Given the description of an element on the screen output the (x, y) to click on. 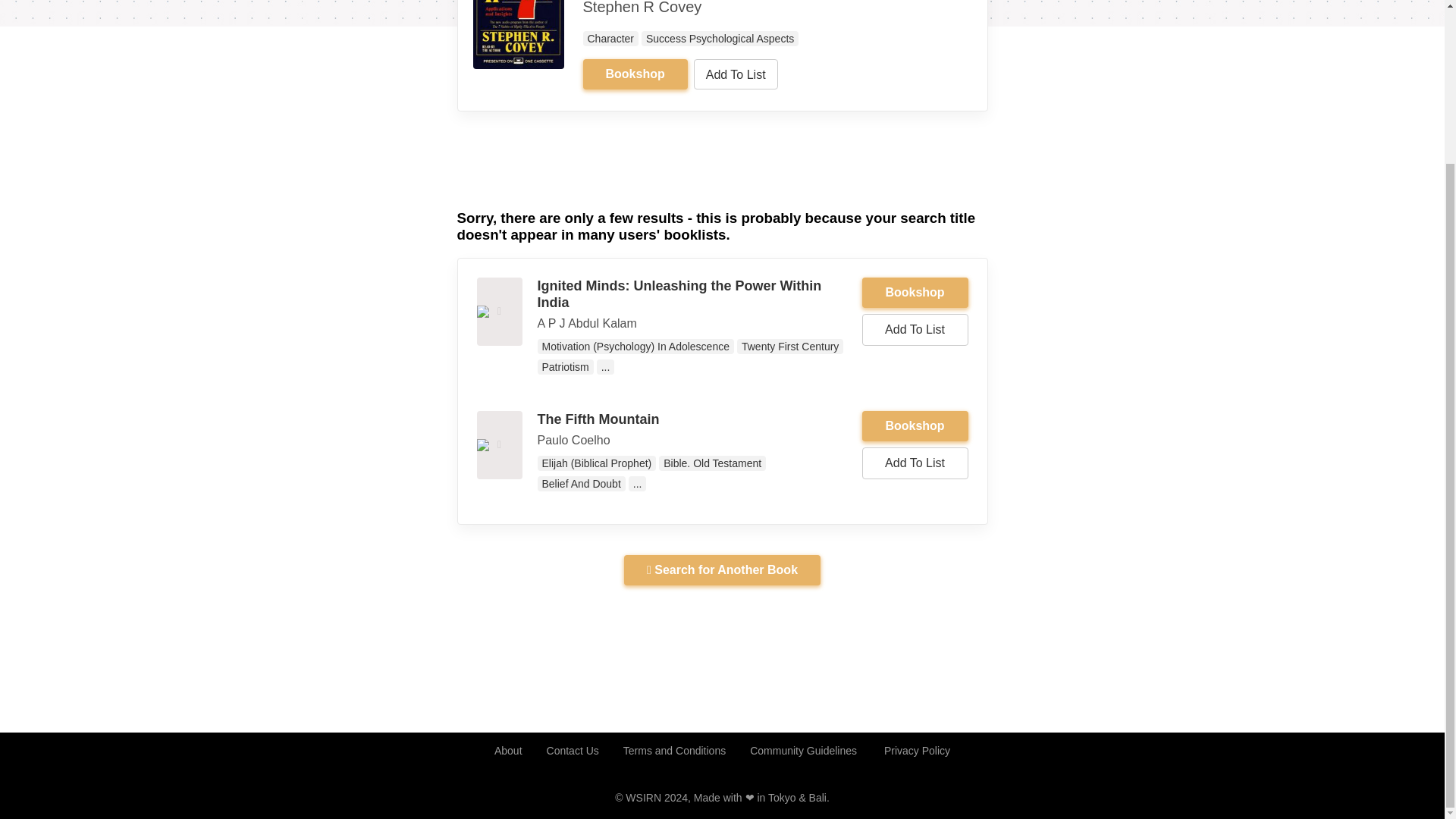
The Fifth Mountain (598, 418)
Bookshop (914, 292)
A P J Abdul Kalam (586, 323)
Bookshop (914, 426)
Terms and Conditions (674, 750)
Add To List (735, 73)
Add To List (914, 329)
... (605, 366)
Contact Us (572, 750)
Ignited Minds: Unleashing the Power Within India (679, 294)
